Given the description of an element on the screen output the (x, y) to click on. 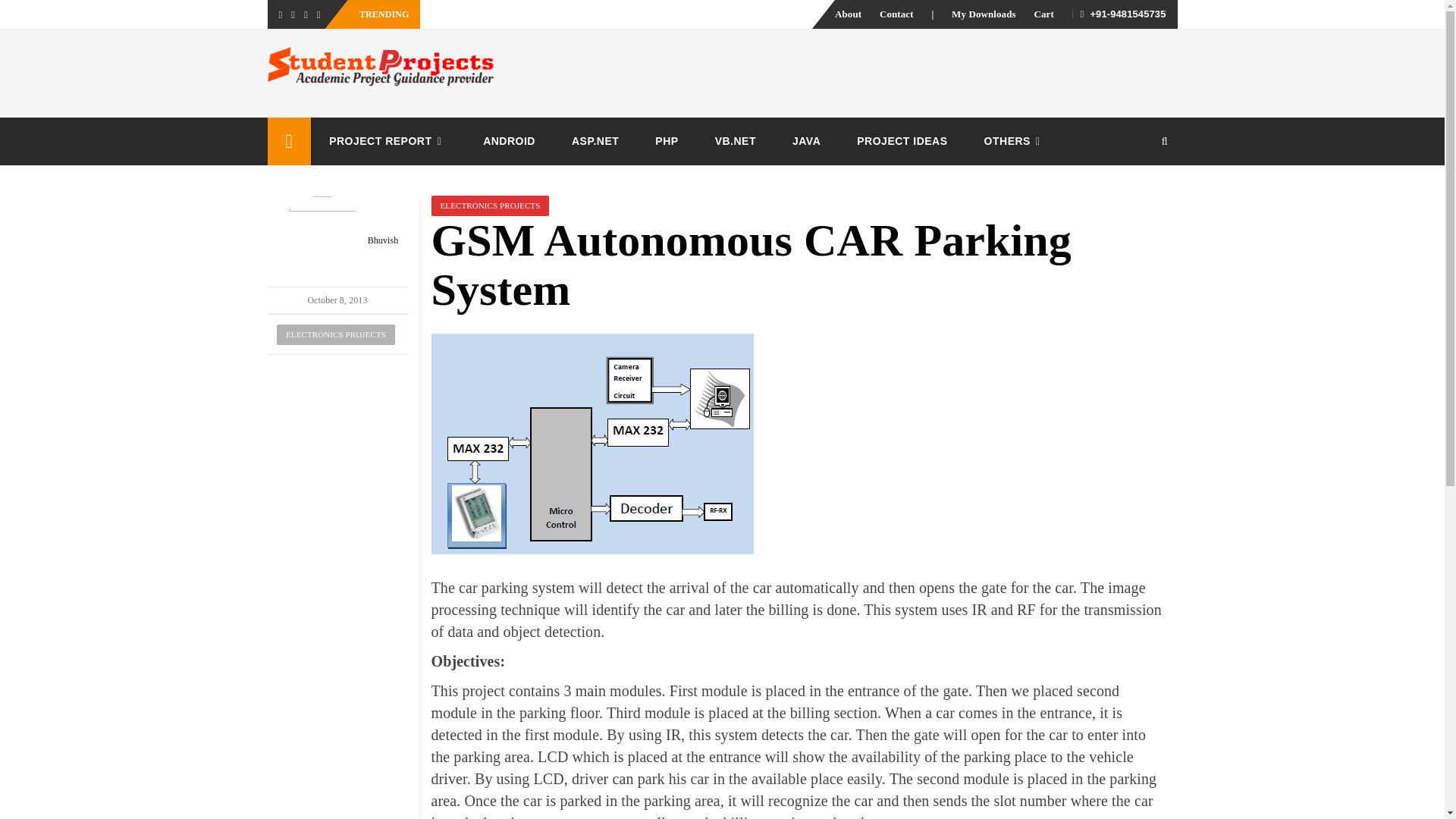
GSM Autonomous CAR Parking system (591, 443)
PHP (666, 140)
PROJECT IDEAS (901, 140)
PROJECT REPORT (387, 141)
About (847, 13)
Cart (1042, 13)
My Downloads (984, 13)
OTHERS (1015, 141)
Contact (896, 13)
JAVA (806, 140)
ASP.NET (595, 140)
VB.NET (735, 140)
ANDROID (508, 140)
